Given the description of an element on the screen output the (x, y) to click on. 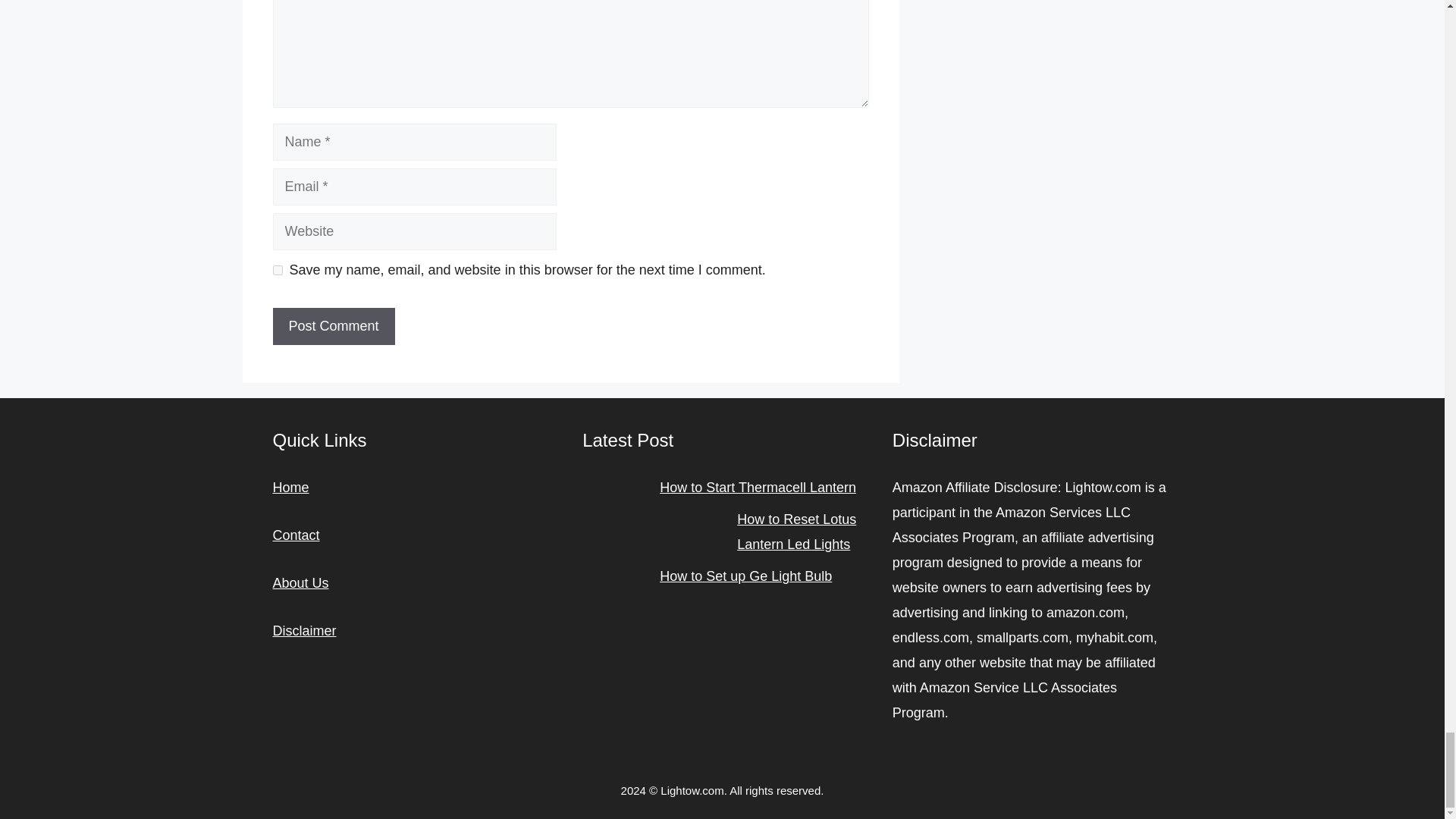
yes (277, 270)
Post Comment (333, 325)
Post Comment (333, 325)
